Given the description of an element on the screen output the (x, y) to click on. 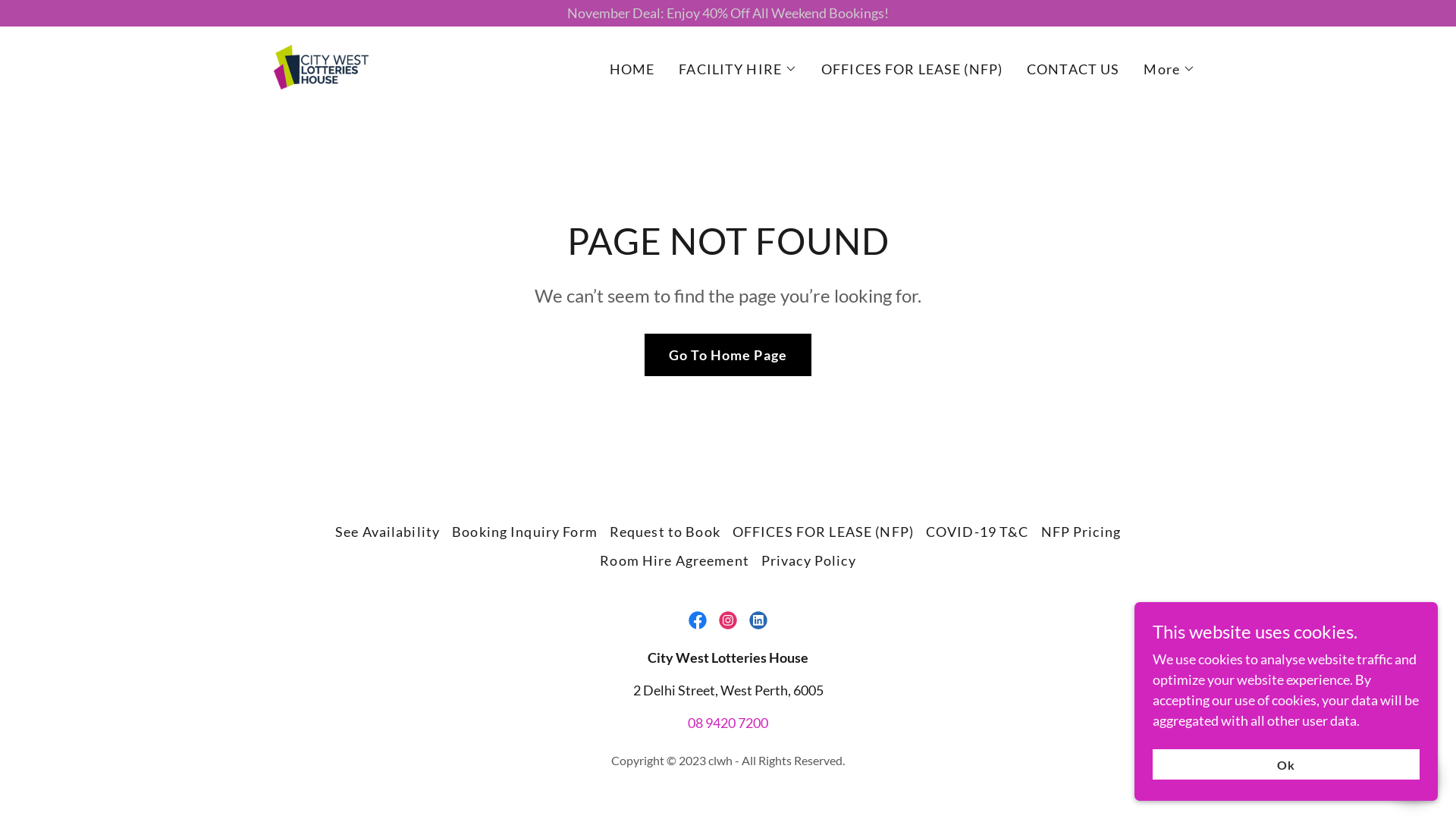
HOME Element type: text (632, 68)
08 9420 7200 Element type: text (727, 722)
Room Hire Agreement Element type: text (674, 560)
NFP Pricing Element type: text (1080, 531)
See Availability Element type: text (387, 531)
CONTACT US Element type: text (1072, 68)
Booking Inquiry Form Element type: text (524, 531)
Request to Book Element type: text (664, 531)
More Element type: text (1169, 68)
COVID-19 T&C Element type: text (977, 531)
Go To Home Page Element type: text (727, 354)
Privacy Policy Element type: text (808, 560)
Ok Element type: text (1285, 764)
FACILITY HIRE Element type: text (737, 68)
OFFICES FOR LEASE (NFP) Element type: text (822, 531)
OFFICES FOR LEASE (NFP) Element type: text (911, 68)
